Given the description of an element on the screen output the (x, y) to click on. 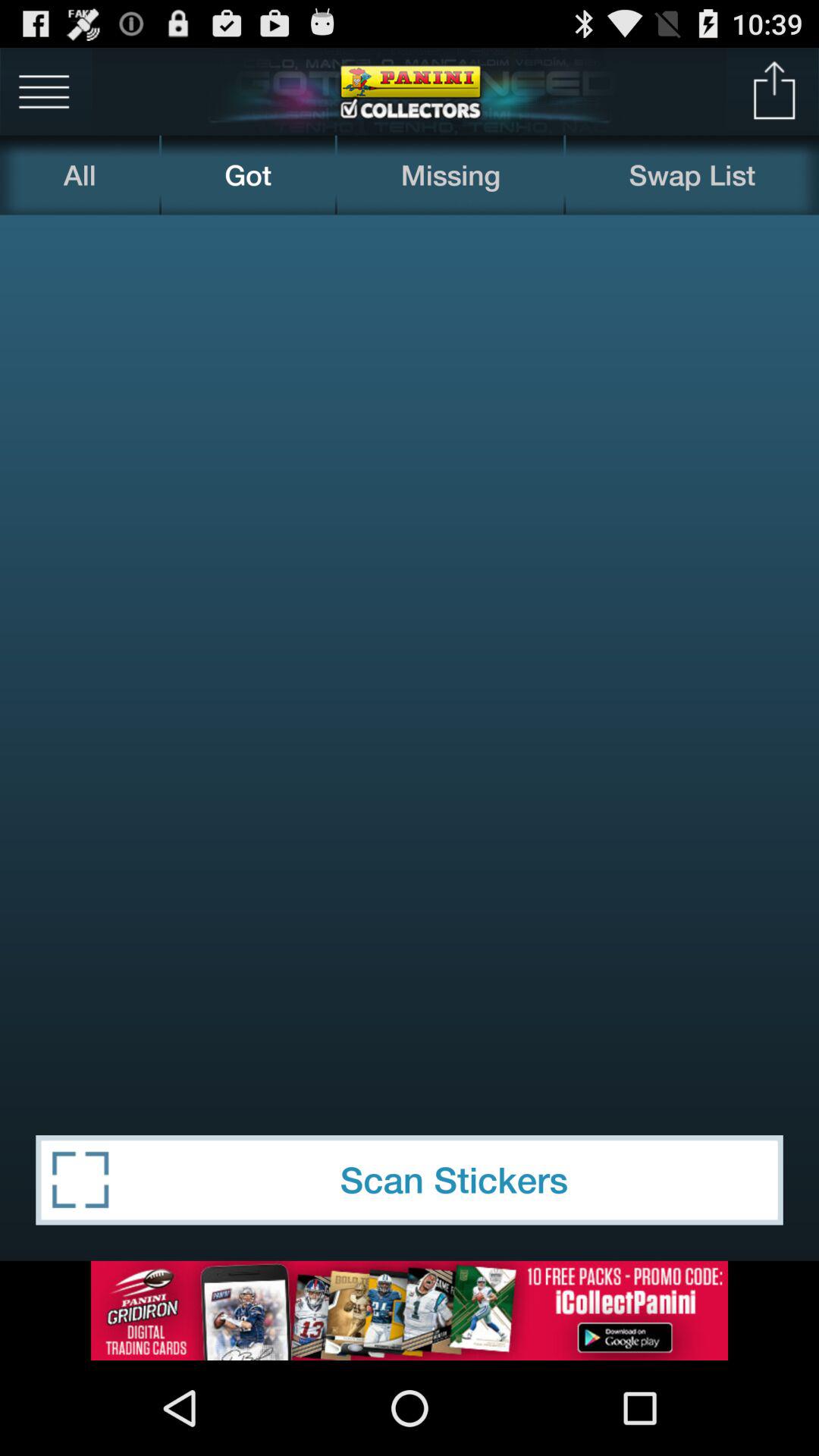
go back (774, 91)
